Given the description of an element on the screen output the (x, y) to click on. 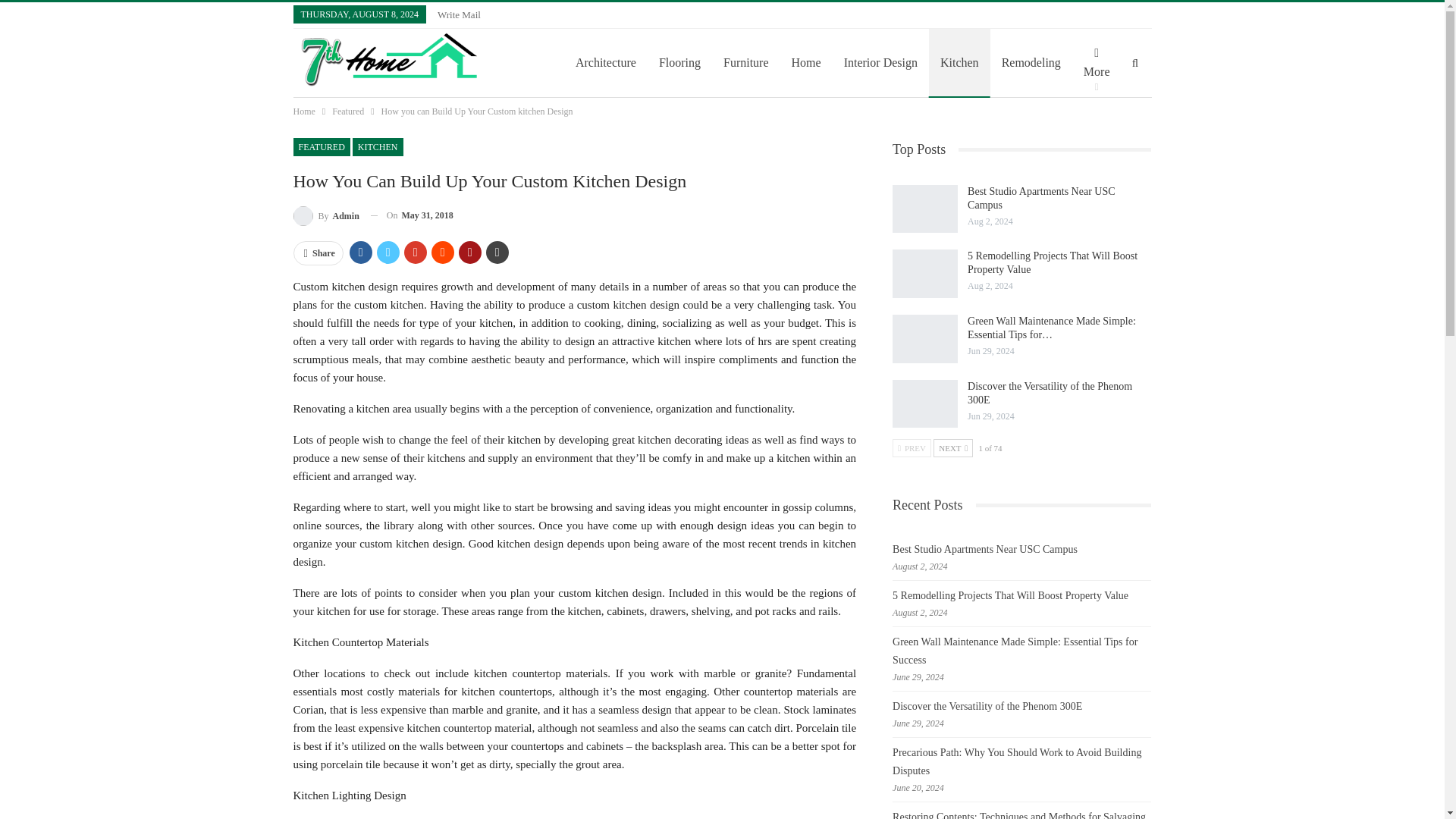
Best Studio Apartments Near USC Campus (925, 209)
By Admin (325, 215)
Featured (347, 111)
KITCHEN (377, 147)
FEATURED (320, 147)
Home (303, 111)
Previous (911, 447)
Discover the Versatility of the Phenom 300E (925, 404)
Write Mail (459, 14)
Remodeling (1030, 62)
